Given the description of an element on the screen output the (x, y) to click on. 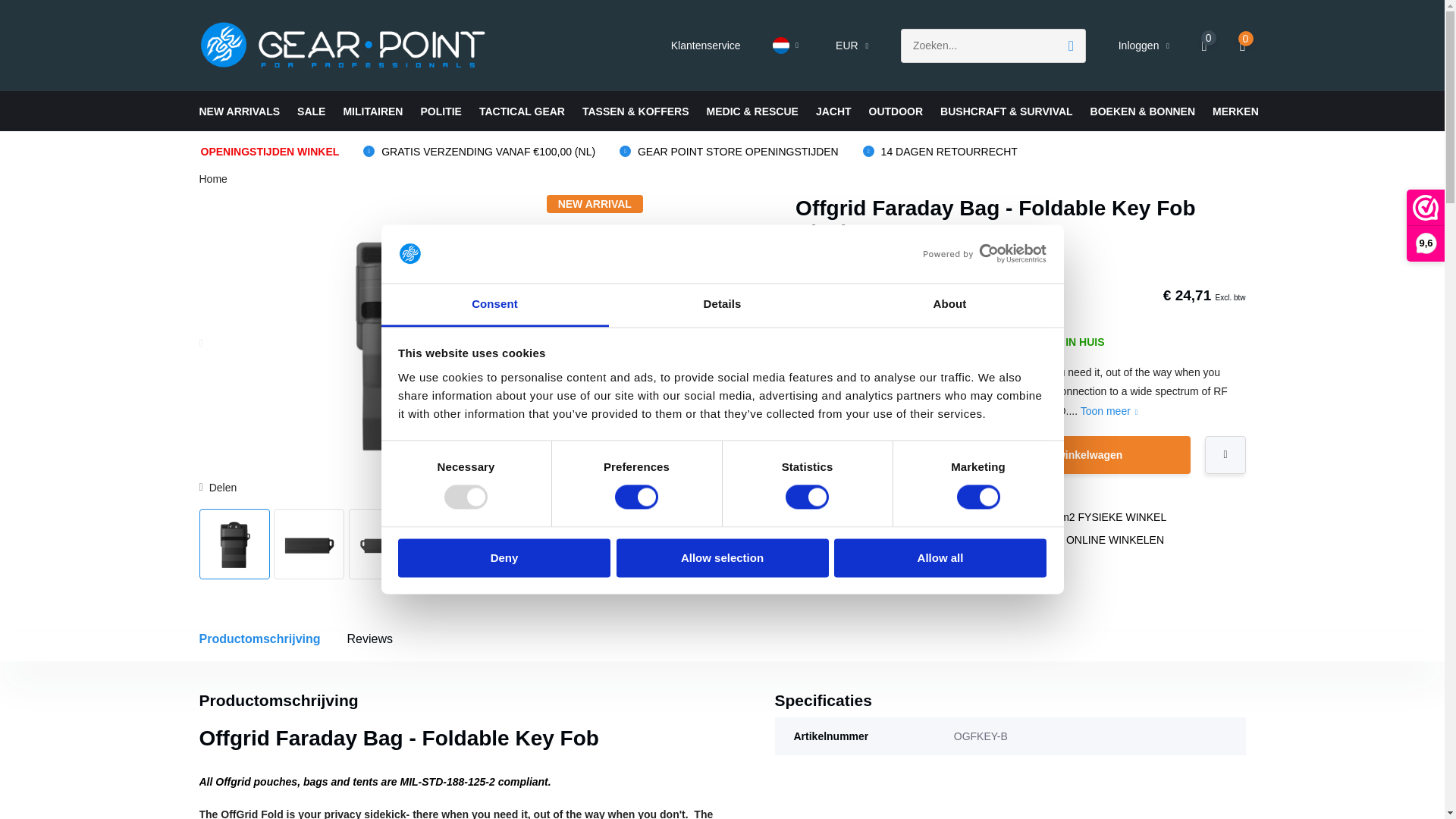
Consent (494, 304)
Details (721, 304)
1 (839, 454)
NEW ARRIVALS (238, 110)
MILITAIREN (372, 110)
About (948, 304)
